Given the description of an element on the screen output the (x, y) to click on. 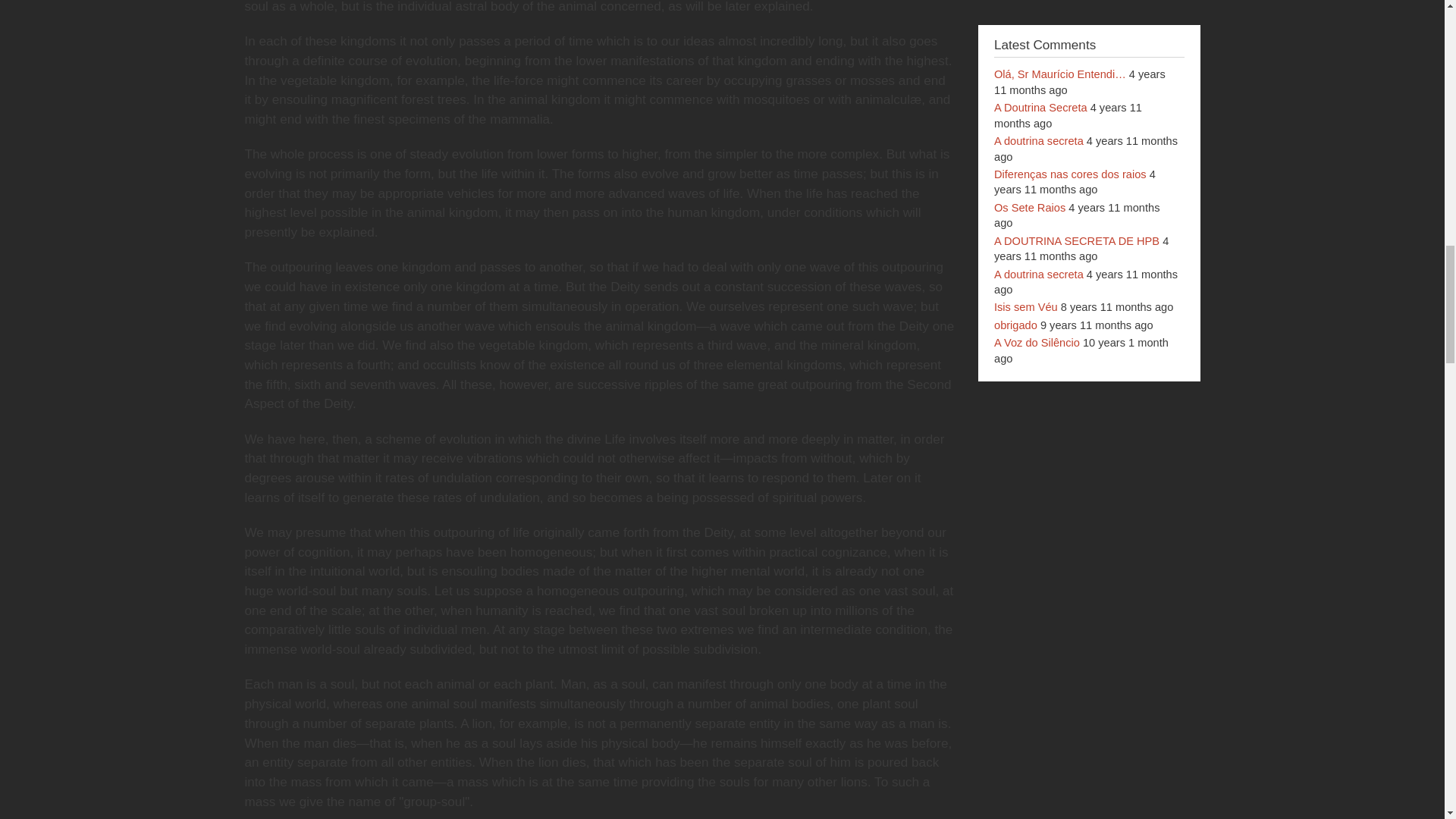
A doutrina secreta (1038, 141)
Os Sete Raios (1029, 207)
A Doutrina Secreta (1040, 107)
obrigado (1015, 325)
A DOUTRINA SECRETA DE HPB (1076, 241)
A doutrina secreta (1038, 274)
